Given the description of an element on the screen output the (x, y) to click on. 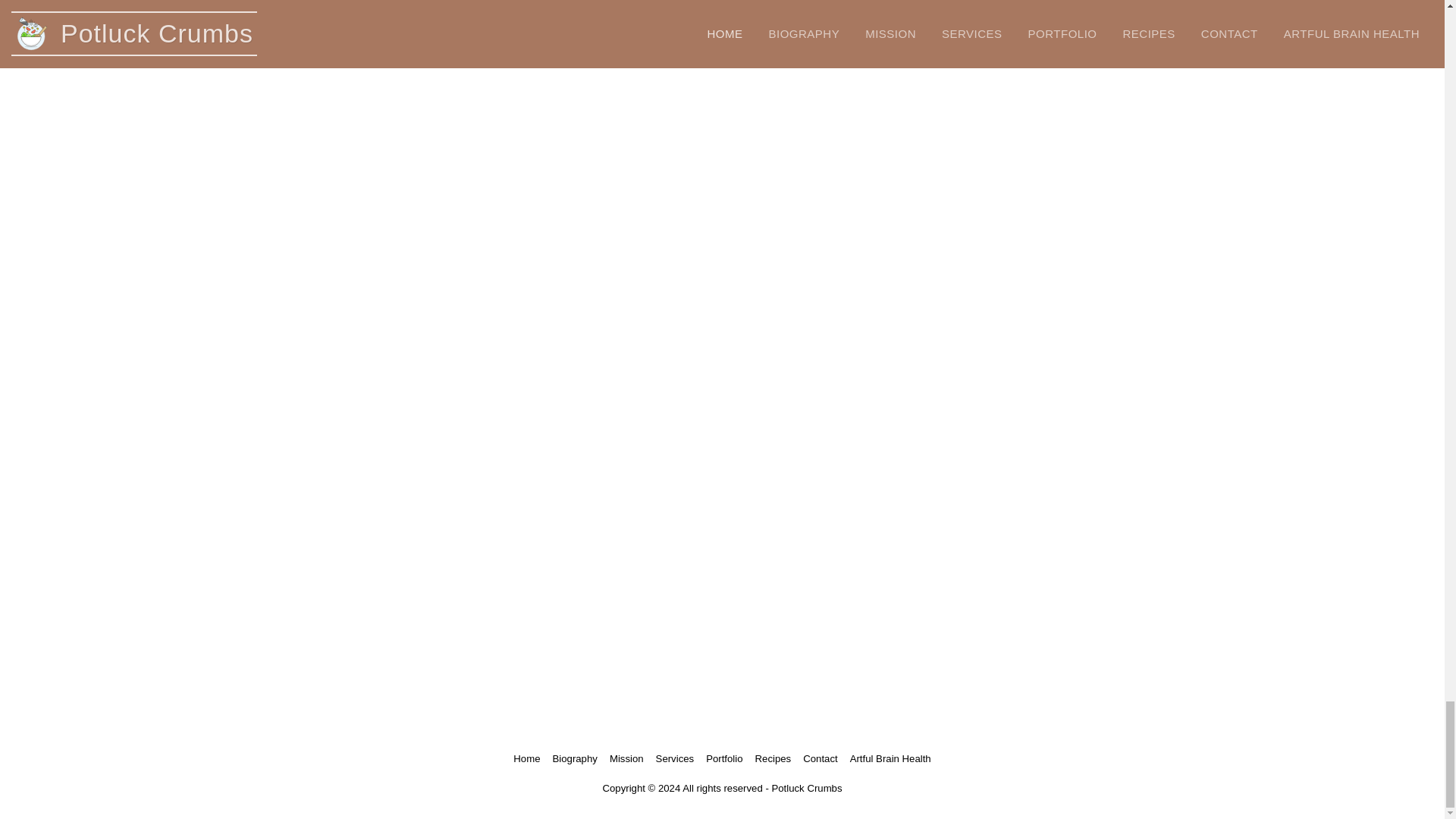
Recipes (773, 758)
Biography (573, 758)
Services (675, 758)
Mission (626, 758)
Home (526, 758)
Portfolio (724, 758)
Contact (820, 758)
